Given the description of an element on the screen output the (x, y) to click on. 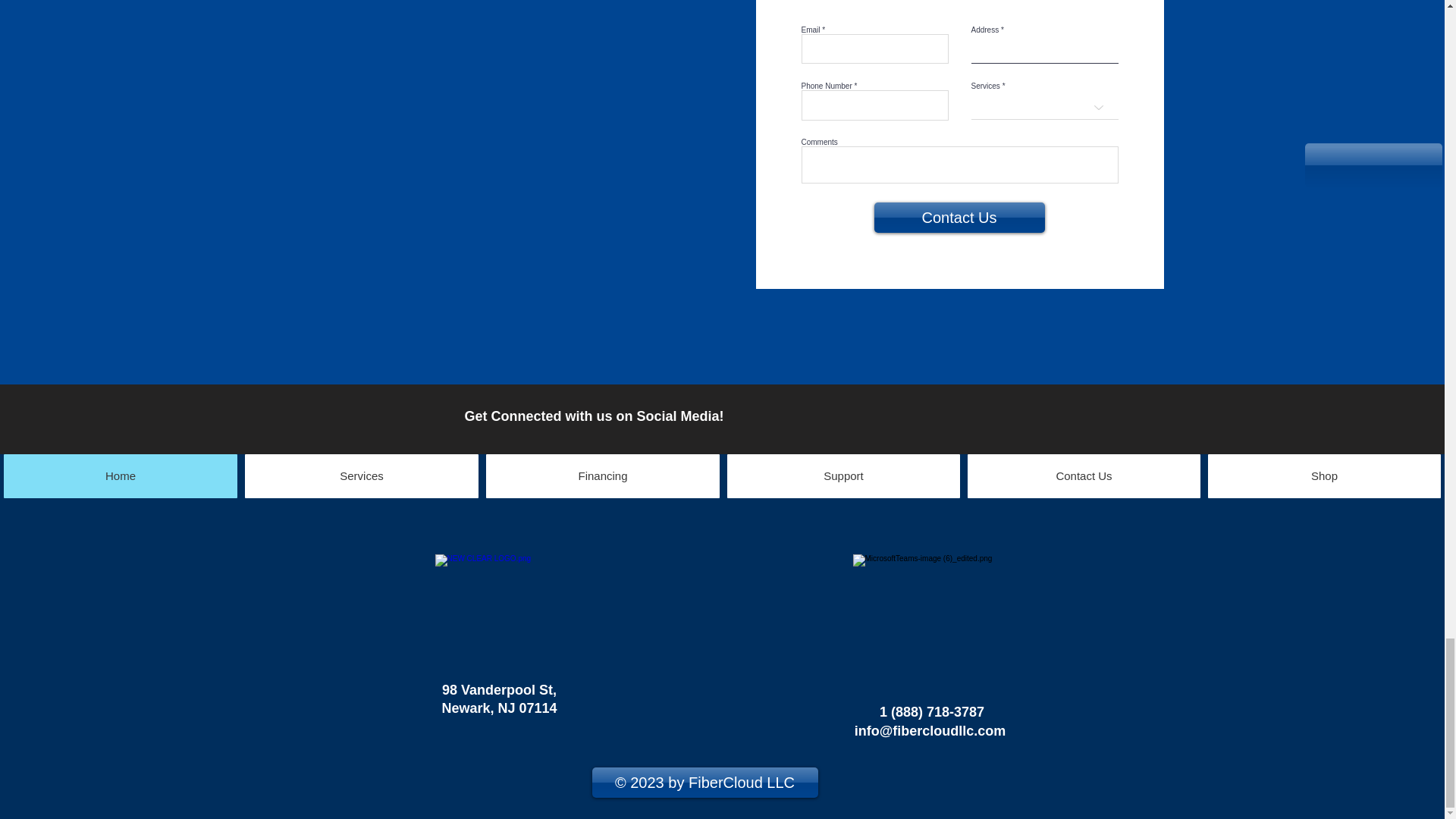
Contact Us (958, 217)
Get Connected with us on Social Media! (593, 416)
